Given the description of an element on the screen output the (x, y) to click on. 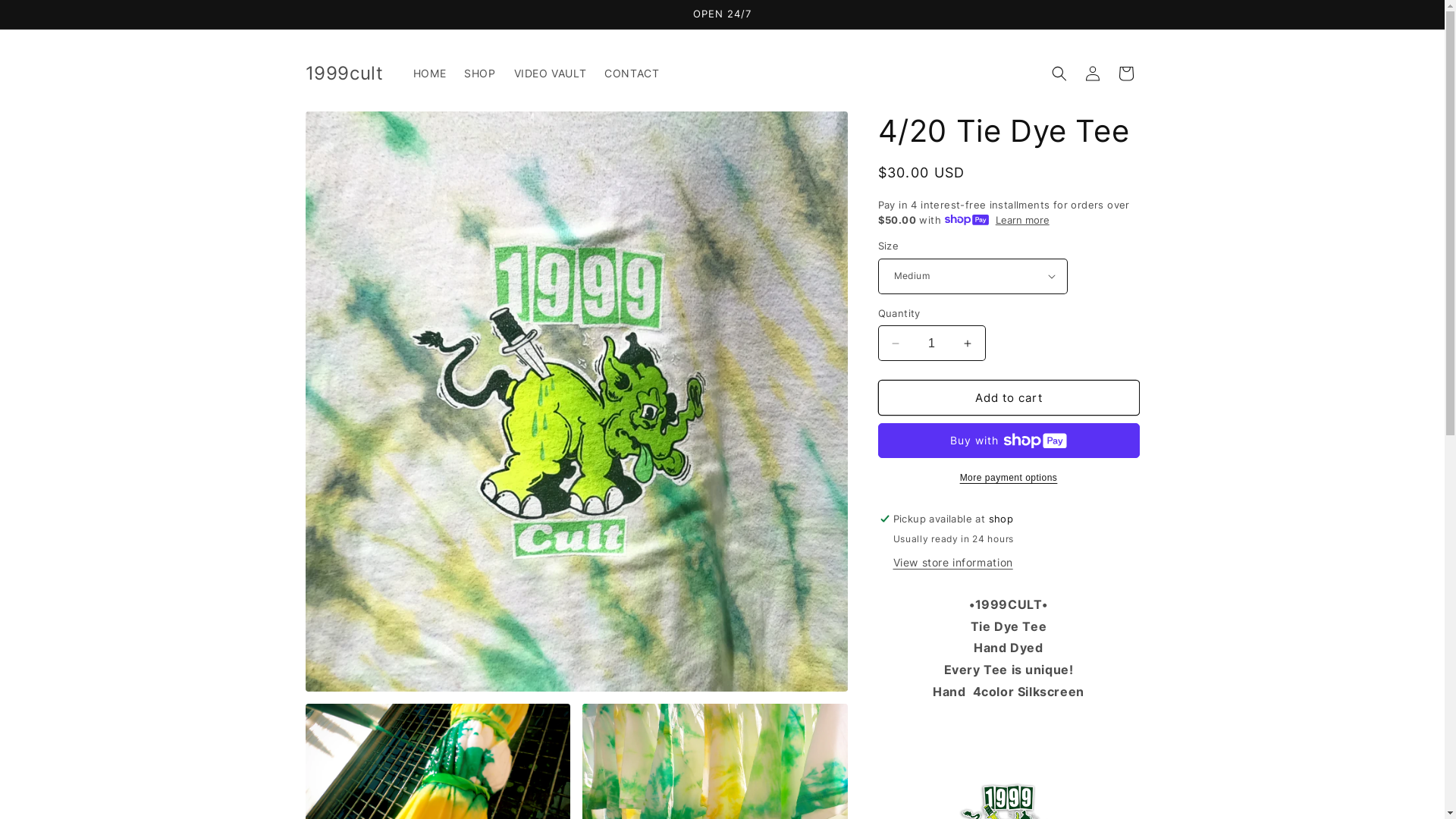
Log in Element type: text (1091, 73)
Skip to product information Element type: text (350, 128)
Cart Element type: text (1125, 73)
CONTACT Element type: text (631, 73)
HOME Element type: text (429, 73)
SHOP Element type: text (479, 73)
Add to cart Element type: text (1008, 397)
View store information Element type: text (953, 562)
More payment options Element type: text (1008, 477)
VIDEO VAULT Element type: text (550, 73)
Increase quantity for 4/20 Tie Dye Tee Element type: text (967, 342)
Decrease quantity for 4/20 Tie Dye Tee Element type: text (895, 342)
1999cult Element type: text (344, 73)
